Given the description of an element on the screen output the (x, y) to click on. 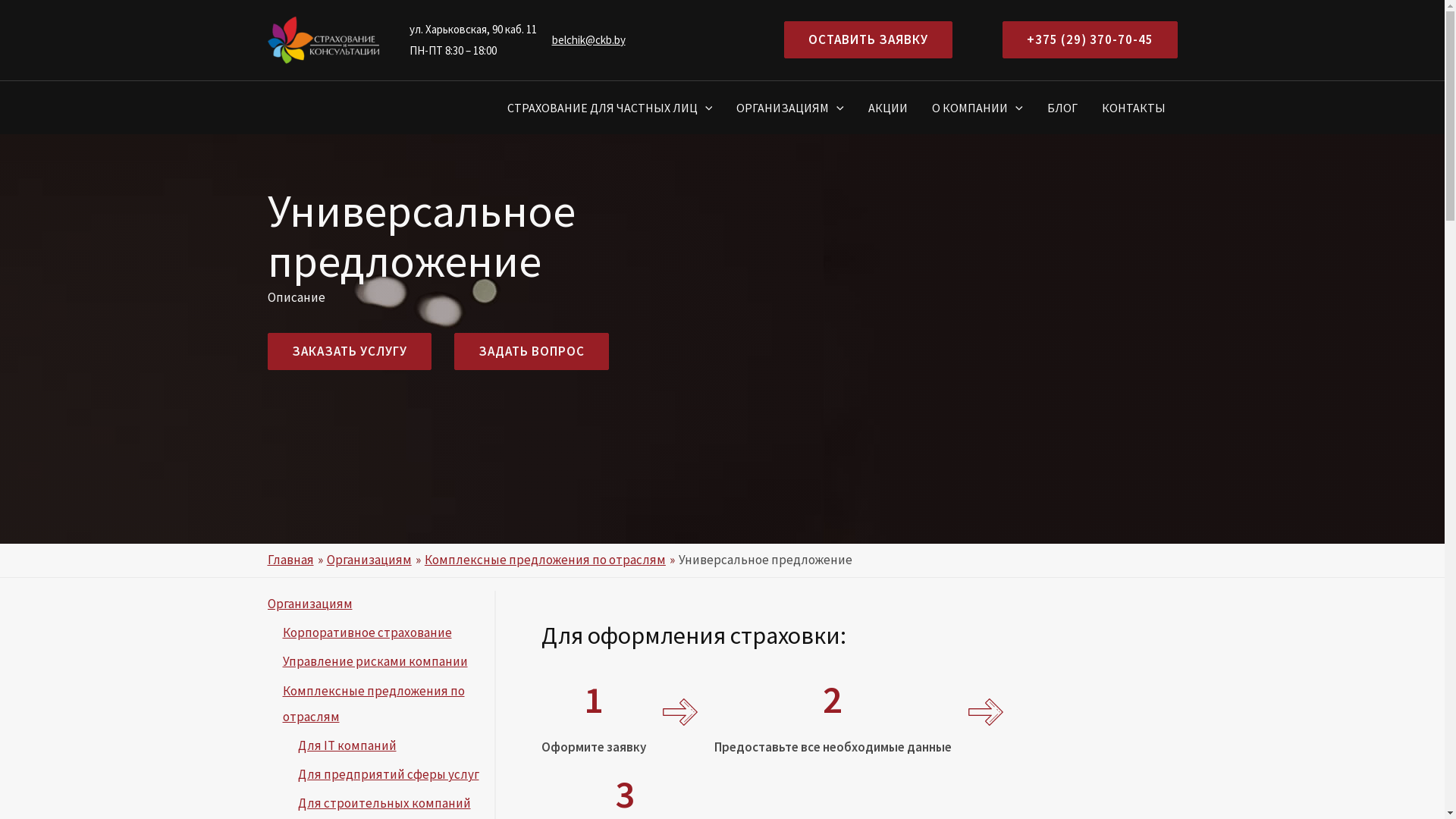
belchik@ckb.by Element type: text (588, 39)
+375 (29) 370-70-45 Element type: text (1089, 39)
